Given the description of an element on the screen output the (x, y) to click on. 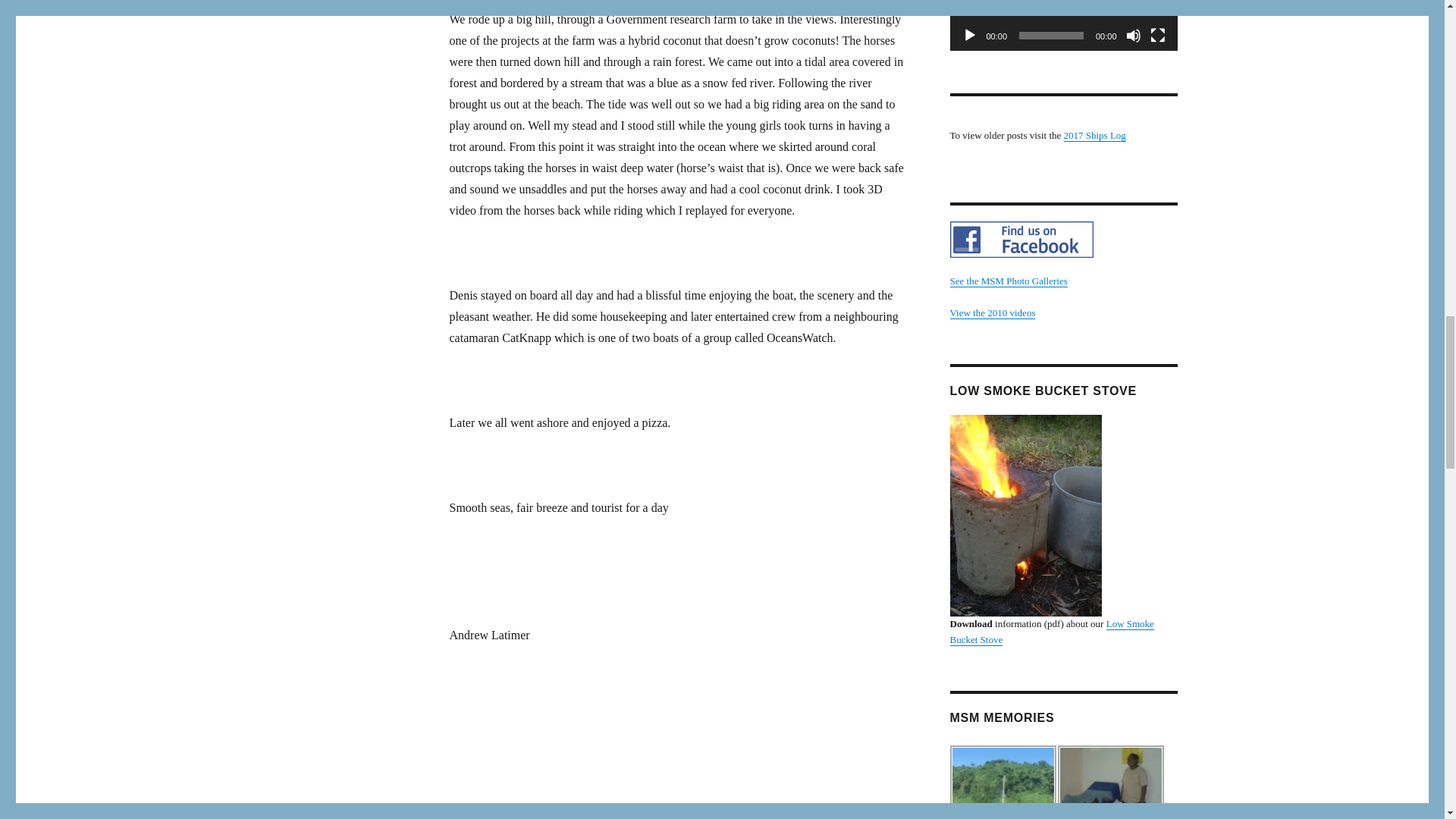
Waterfall bay3 (1002, 782)
Fullscreen (1157, 35)
Play (968, 35)
Midwife Liane in the delivery room (1110, 782)
Mute (1132, 35)
